Given the description of an element on the screen output the (x, y) to click on. 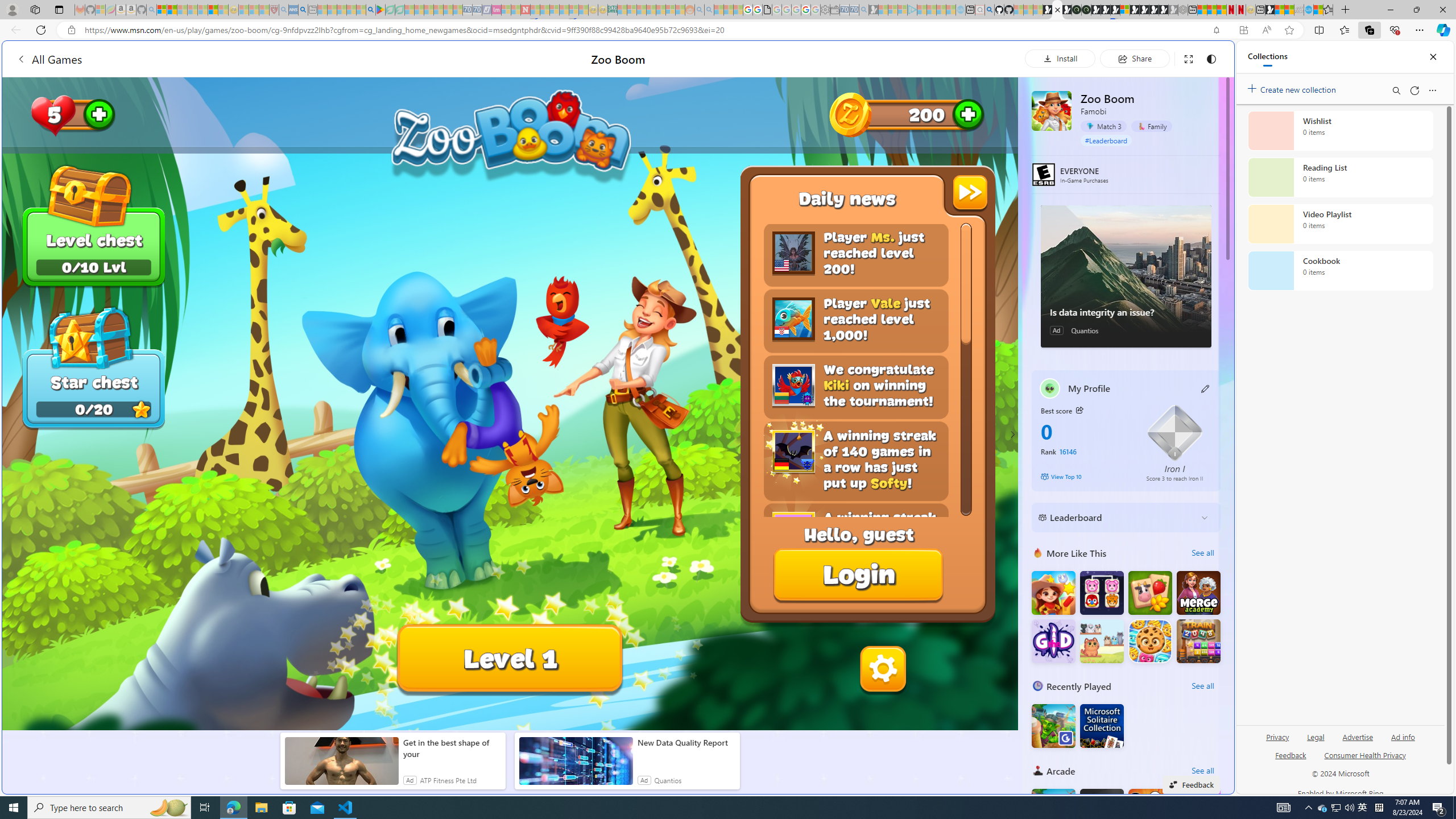
Play Zoo Boom in your browser | Games from Microsoft Start (1057, 9)
All Games (49, 58)
Expert Portfolios - Sleeping (651, 9)
Share (1134, 58)
#Leaderboard (1106, 140)
Merge Academy (1198, 592)
